Given the description of an element on the screen output the (x, y) to click on. 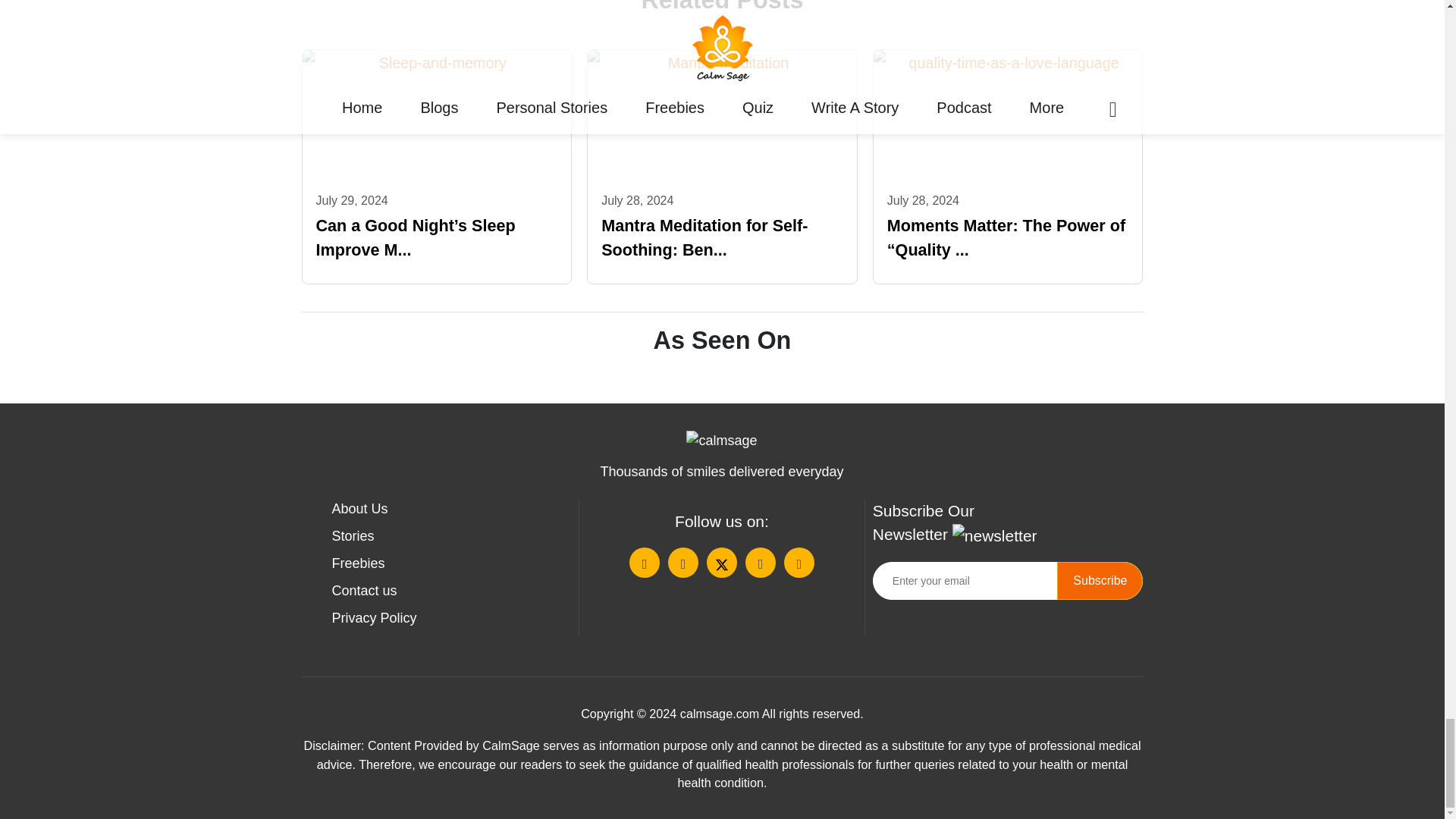
Subscribe (1099, 580)
